Given the description of an element on the screen output the (x, y) to click on. 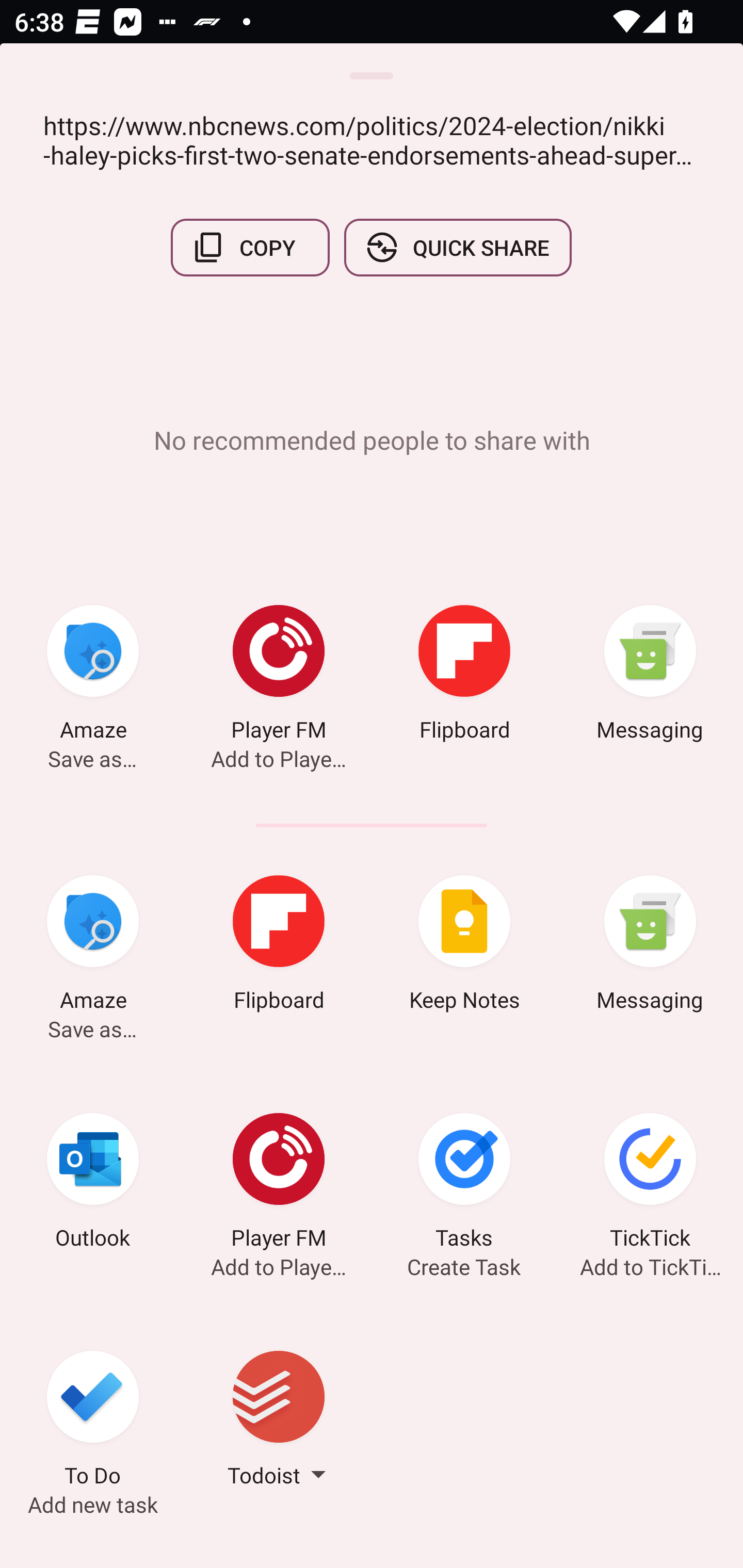
COPY (249, 247)
QUICK SHARE (457, 247)
Amaze Save as… (92, 675)
Player FM Add to Player FM (278, 675)
Flipboard (464, 675)
Messaging (650, 675)
Amaze Save as… (92, 945)
Flipboard (278, 945)
Keep Notes (464, 945)
Messaging (650, 945)
Outlook (92, 1183)
Player FM Add to Player FM (278, 1183)
Tasks Create Task (464, 1183)
TickTick Add to TickTick (650, 1183)
To Do Add new task (92, 1422)
Todoist (278, 1422)
